Given the description of an element on the screen output the (x, y) to click on. 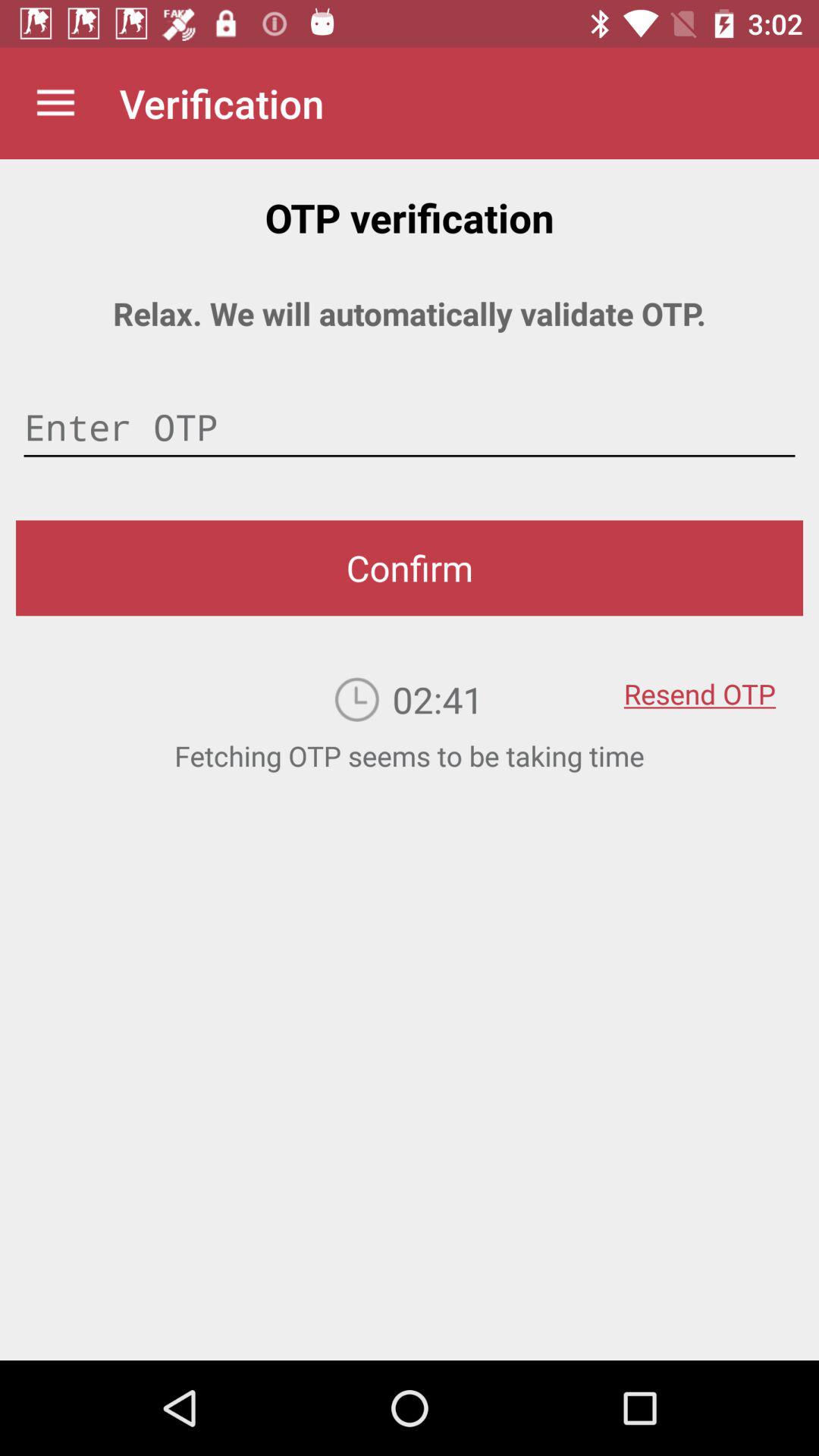
flip until the confirm item (409, 567)
